Given the description of an element on the screen output the (x, y) to click on. 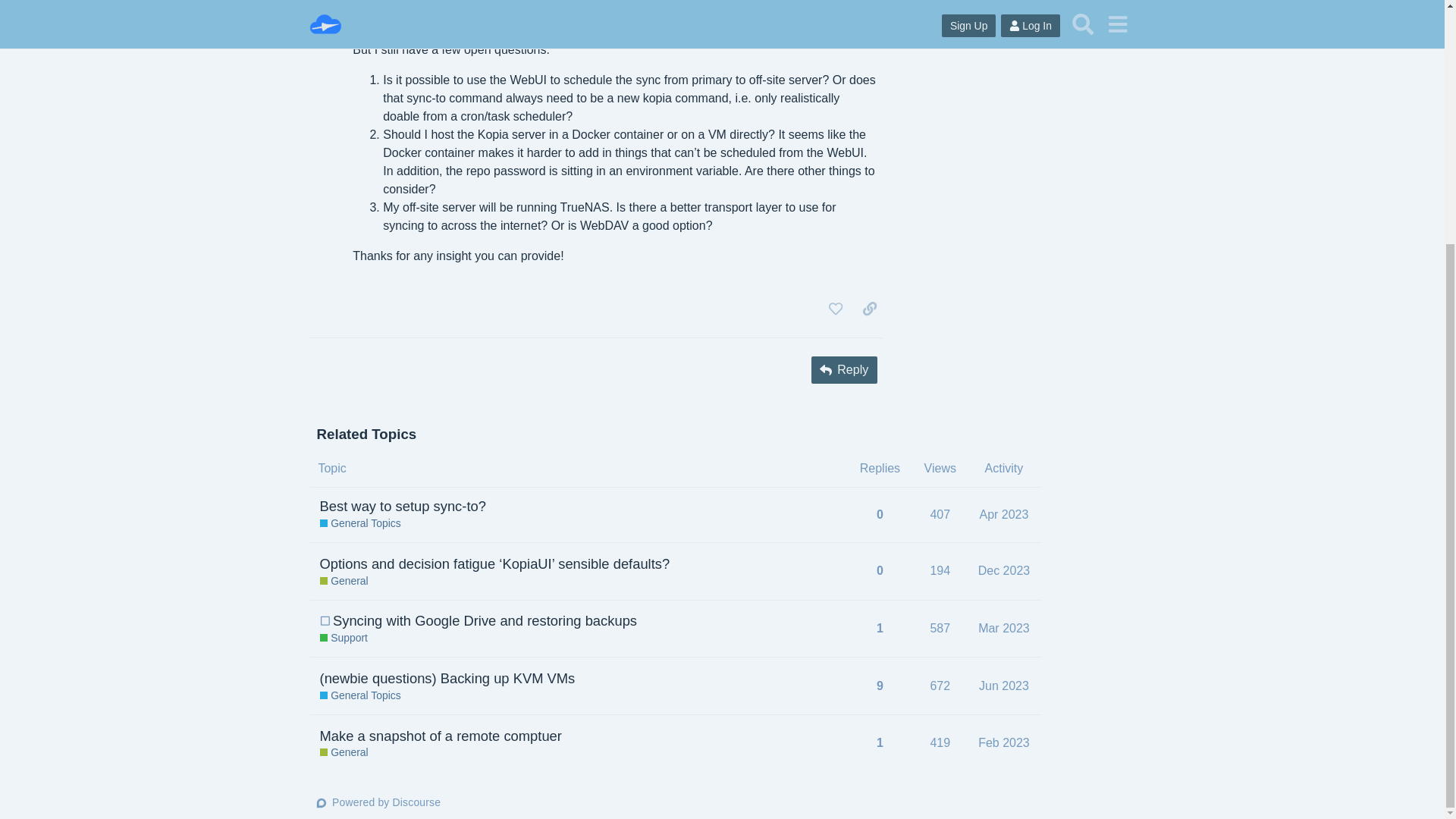
copy a link to this post to clipboard (869, 308)
Created: Apr 11, 2023 5:56 pm (1005, 628)
like this post (1005, 519)
Support (835, 308)
this topic has been viewed 194 times (344, 638)
Reply (940, 570)
Feb 2023 (843, 370)
This topic has no solution (1003, 742)
Best way to setup sync-to? (325, 620)
Powered by Discourse (403, 505)
this topic has been viewed 407 times (378, 802)
General (940, 513)
Jun 2023 (344, 752)
Created: Dec 25, 2023 7:21 am (1003, 685)
